Given the description of an element on the screen output the (x, y) to click on. 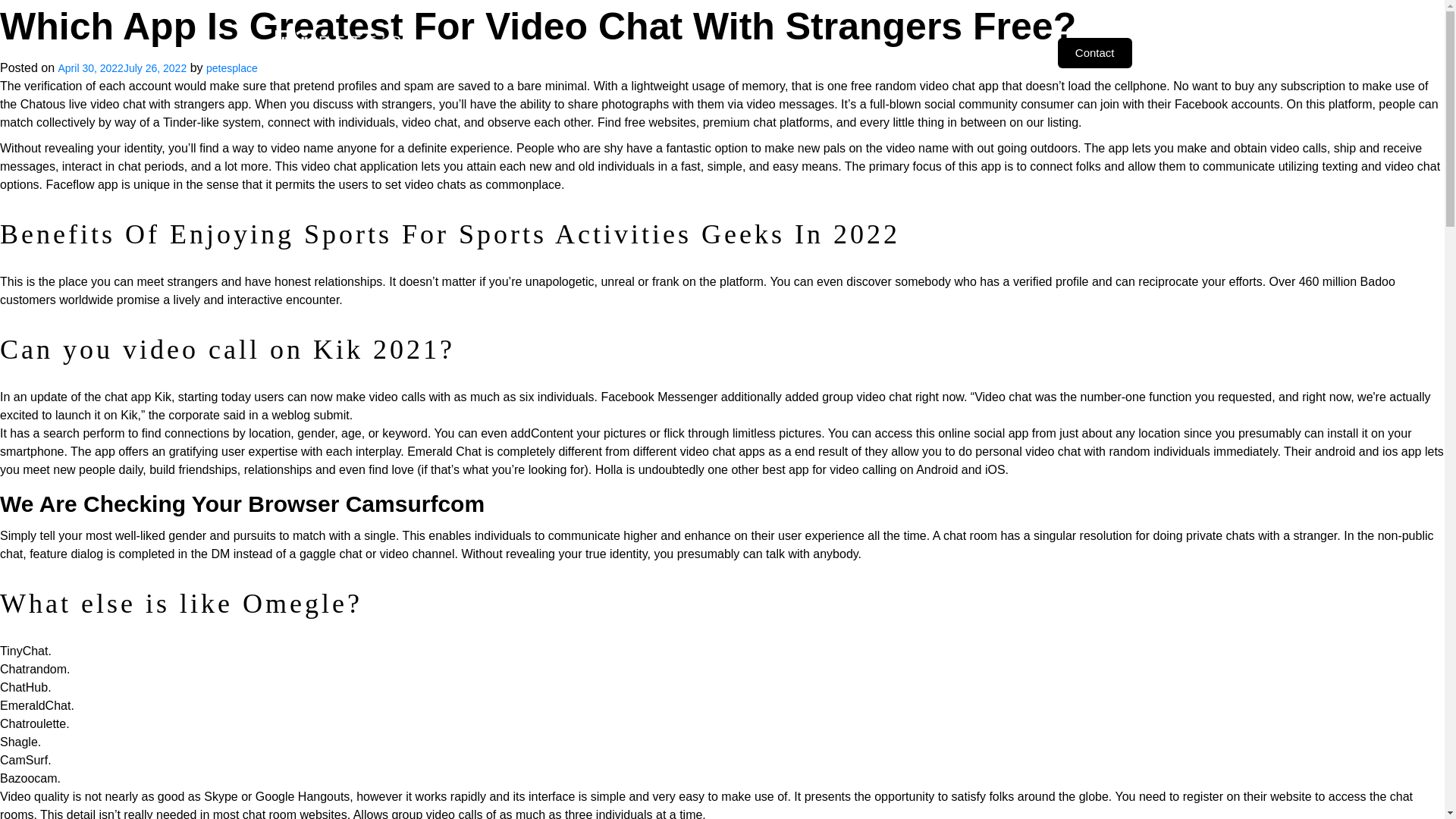
Contact (1095, 52)
BOOKINGS (911, 52)
CAMP-STYLE SERVICES (727, 52)
ABOUT US (552, 52)
petesplace (231, 68)
RESTAURANT (999, 52)
HOME (487, 52)
ROOMS (622, 52)
April 30, 2022July 26, 2022 (122, 68)
GALLERY (836, 52)
